Given the description of an element on the screen output the (x, y) to click on. 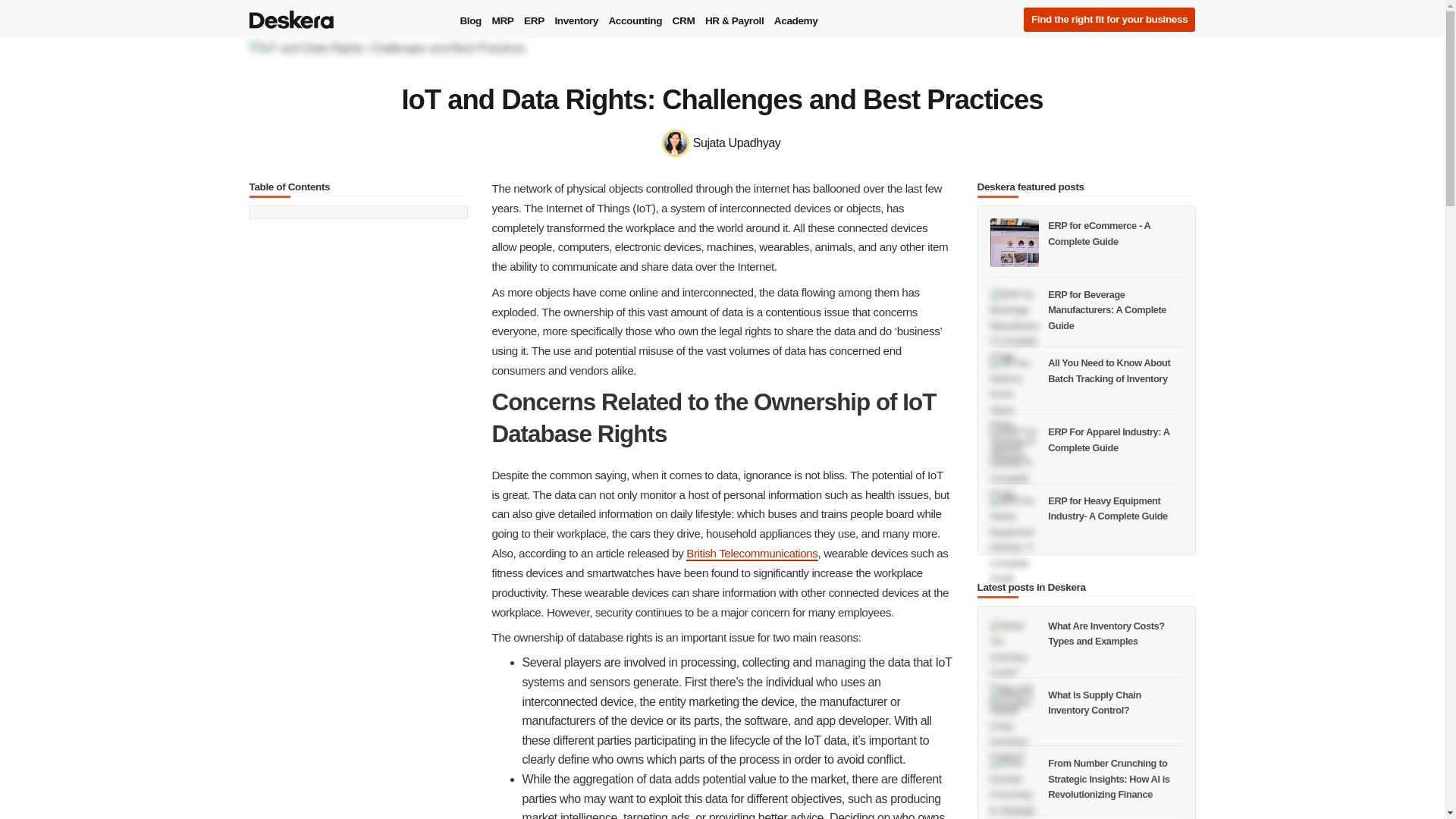
MRP (502, 21)
Accounting (634, 21)
Inventory (575, 21)
British Telecommunications (750, 554)
Sujata Upadhyay (721, 142)
CRM (683, 21)
 Theme Toggle (983, 19)
Academy (795, 21)
Find the right fit for your business (1109, 19)
ERP (534, 21)
